Given the description of an element on the screen output the (x, y) to click on. 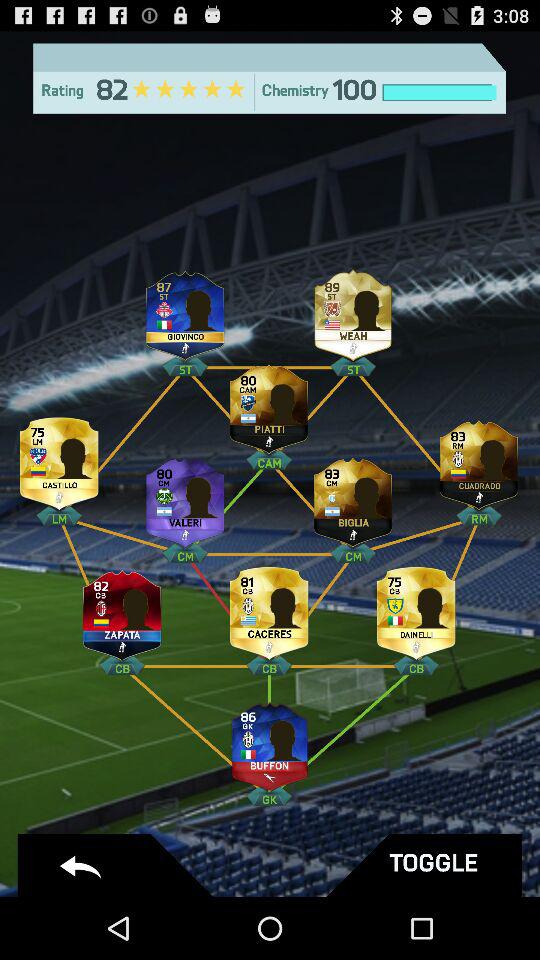
select player (353, 497)
